Given the description of an element on the screen output the (x, y) to click on. 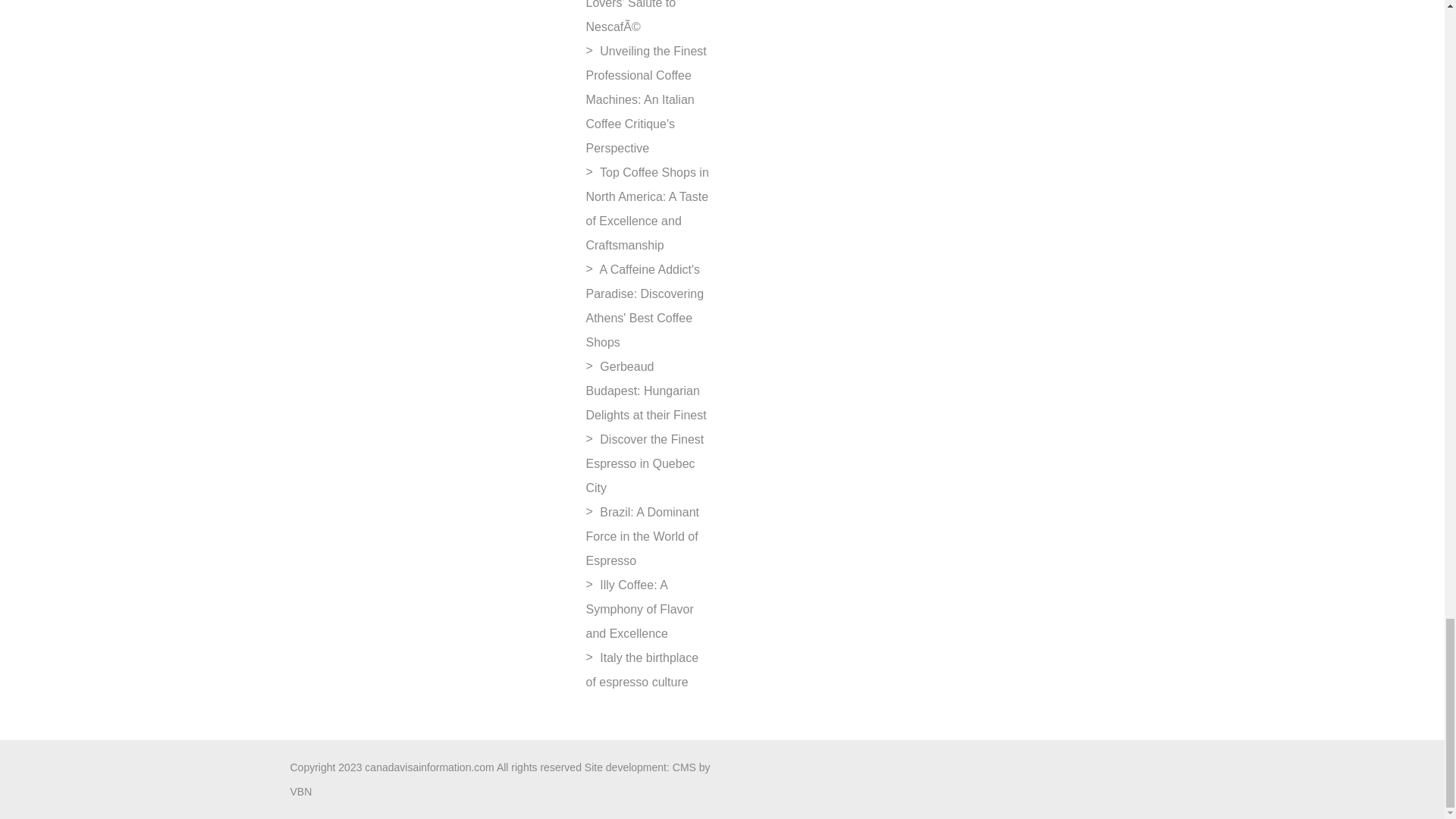
Illy Coffee: A Symphony of Flavor and Excellence (639, 608)
Discover the Finest Espresso in Quebec City (644, 463)
Brazil: A Dominant Force in the World of Espresso (641, 536)
Gerbeaud Budapest: Hungarian Delights at their Finest (645, 390)
Italy the birthplace of espresso culture (641, 669)
